Given the description of an element on the screen output the (x, y) to click on. 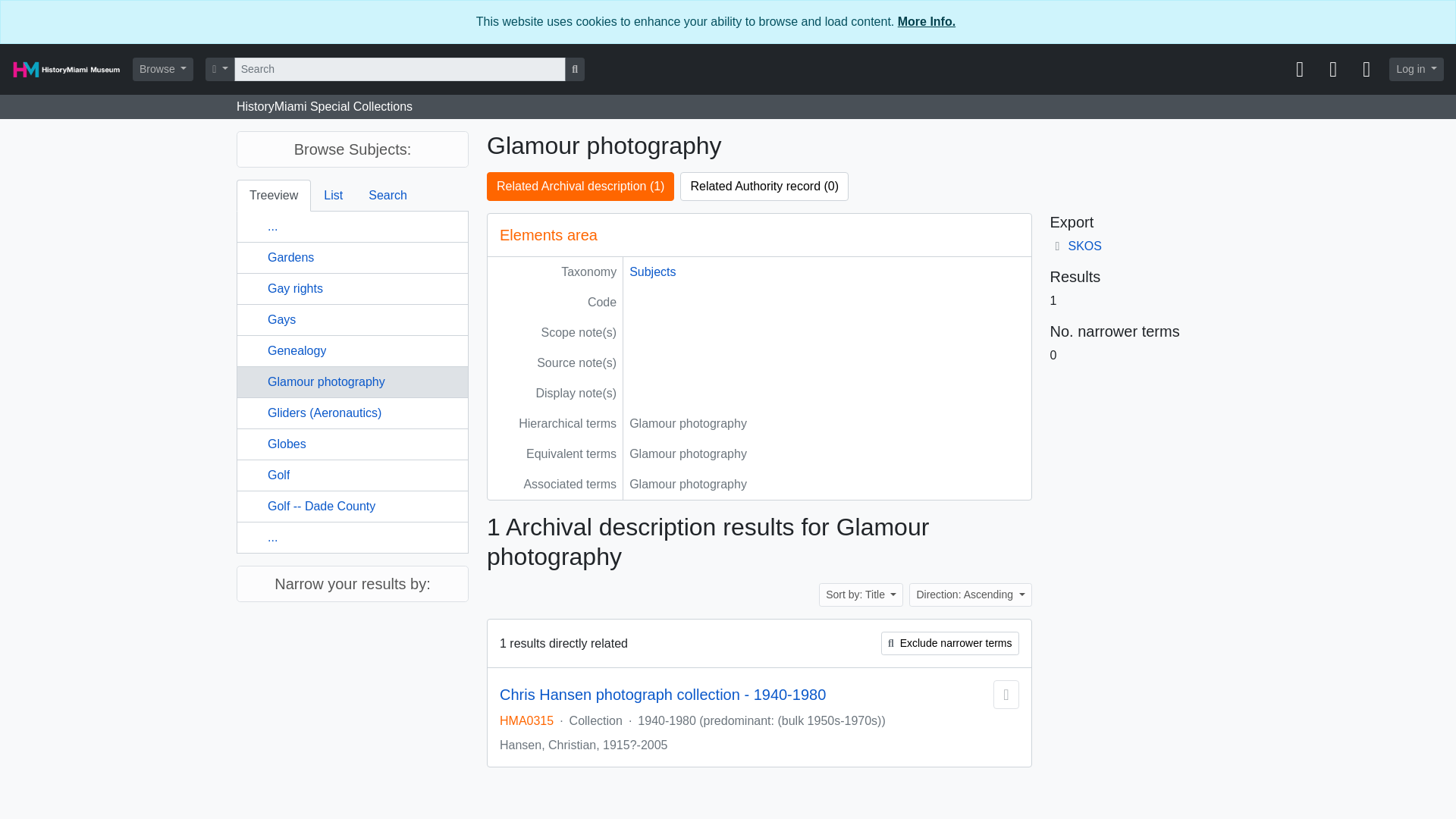
Clipboard (1299, 69)
Gardens (290, 256)
Browse (162, 69)
Search options (219, 69)
Search (387, 195)
Language (1332, 69)
Clipboard (1299, 69)
Log in (1416, 69)
Browse Subjects: (351, 149)
Skip to main content (54, 11)
